Given the description of an element on the screen output the (x, y) to click on. 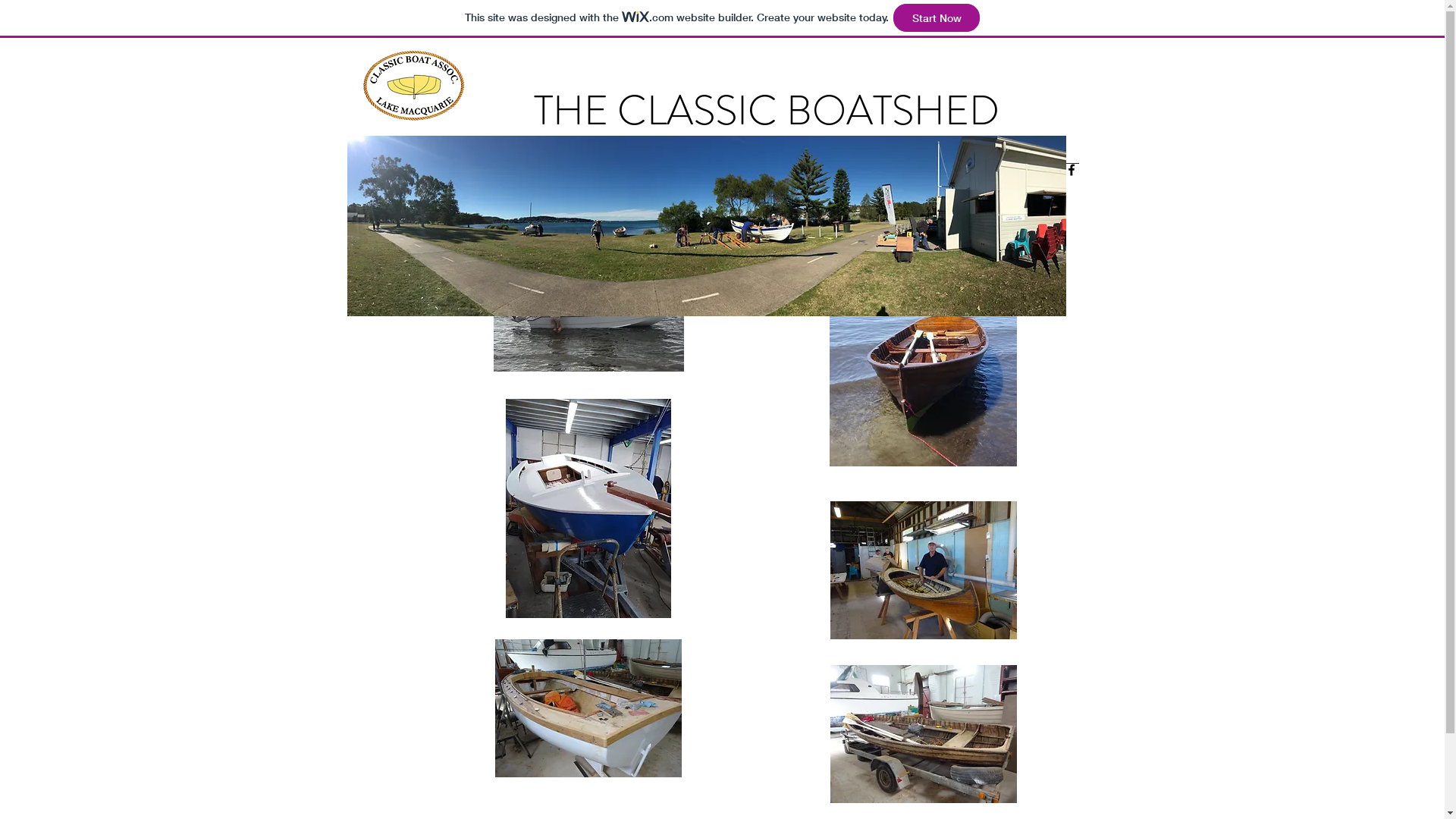
Our Boatshed Element type: text (620, 183)
Our Association Element type: text (842, 183)
Join Us Element type: text (922, 183)
IMG_4613[1].JPG Element type: hover (706, 225)
For Sale Element type: text (697, 183)
Newsletters Element type: text (532, 183)
Boatfest Element type: text (759, 183)
Events Element type: text (976, 183)
Home Element type: text (465, 183)
